Given the description of an element on the screen output the (x, y) to click on. 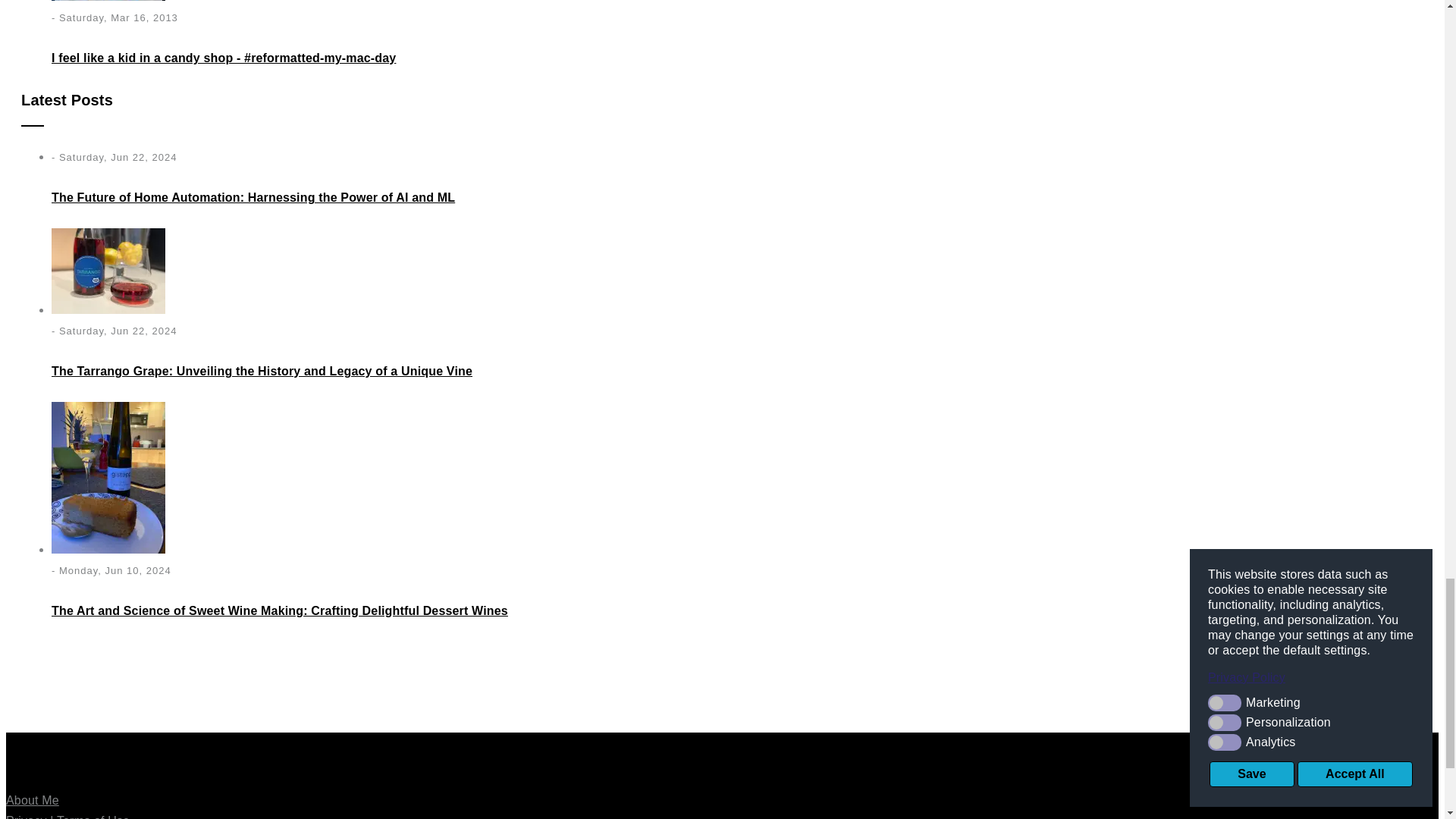
a bottle of Tarrango wine and a glass (107, 270)
